Given the description of an element on the screen output the (x, y) to click on. 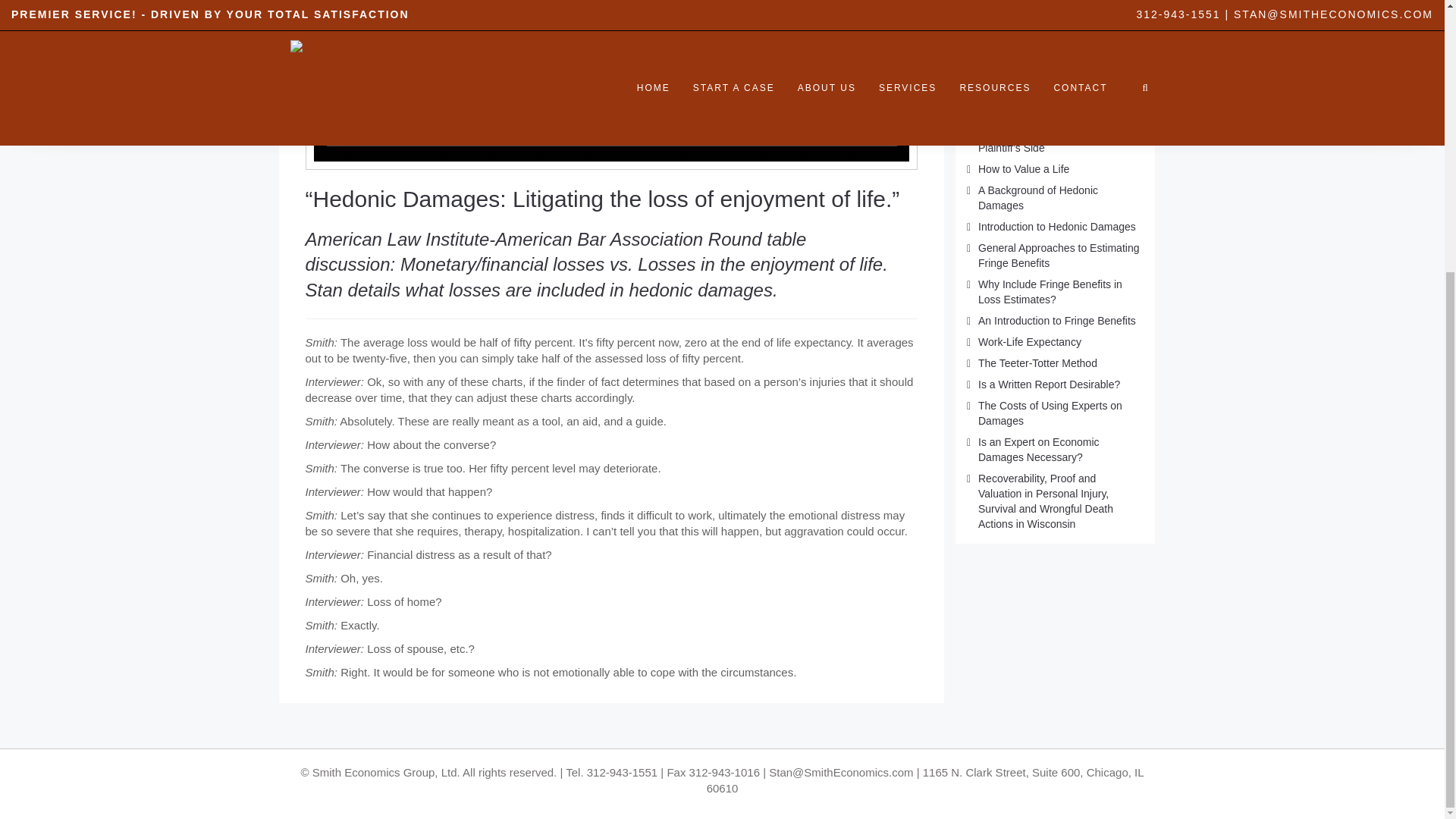
General Considerations on the Defense Side (1050, 103)
Preparation for Trial: Plaintiff, Defense, and Testimony (1046, 11)
Discovery Depositions (1030, 38)
Structured Settlements and Settlement Negotiations (1042, 67)
